Given the description of an element on the screen output the (x, y) to click on. 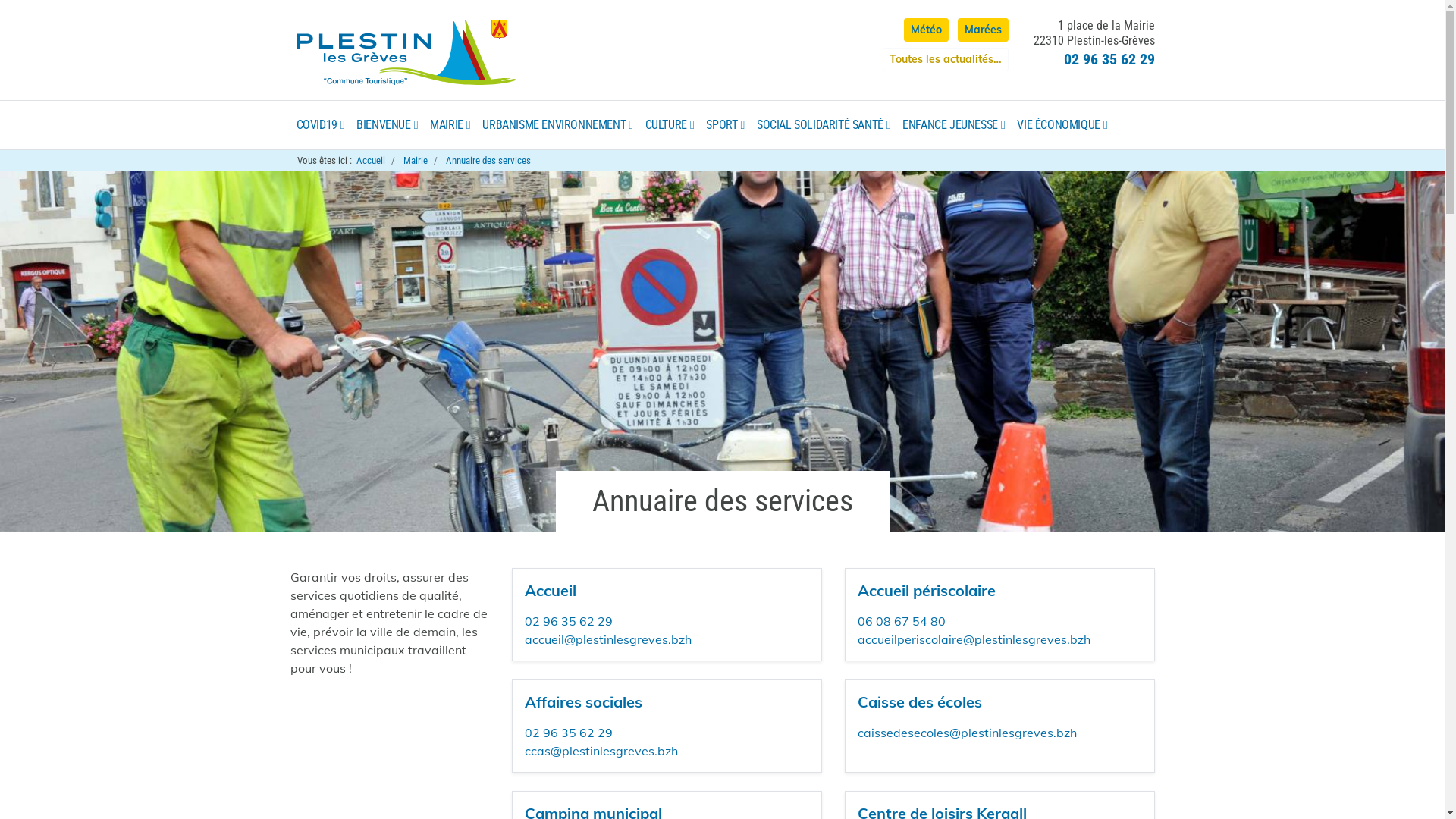
MAIRIE Element type: text (449, 124)
caissedesecoles@plestinlesgreves.bzh Element type: text (966, 732)
accueil@plestinlesgreves.bzh Element type: text (607, 638)
SPORT Element type: text (724, 124)
ccas@plestinlesgreves.bzh Element type: text (600, 750)
02 96 35 62 29 Element type: text (1108, 59)
Accueil Element type: text (370, 160)
06 08 67 54 80 Element type: text (901, 620)
BIENVENUE Element type: text (386, 124)
COVID19 Element type: text (319, 124)
02 96 35 62 29 Element type: text (568, 620)
accueilperiscolaire@plestinlesgreves.bzh Element type: text (973, 638)
URBANISME ENVIRONNEMENT Element type: text (557, 124)
02 96 35 62 29 Element type: text (568, 732)
Affaires sociales Element type: text (583, 701)
Mairie Element type: text (415, 160)
ENFANCE JEUNESSE Element type: text (953, 124)
Annuaire des services Element type: text (487, 160)
CULTURE Element type: text (669, 124)
Accueil Element type: text (550, 589)
